Given the description of an element on the screen output the (x, y) to click on. 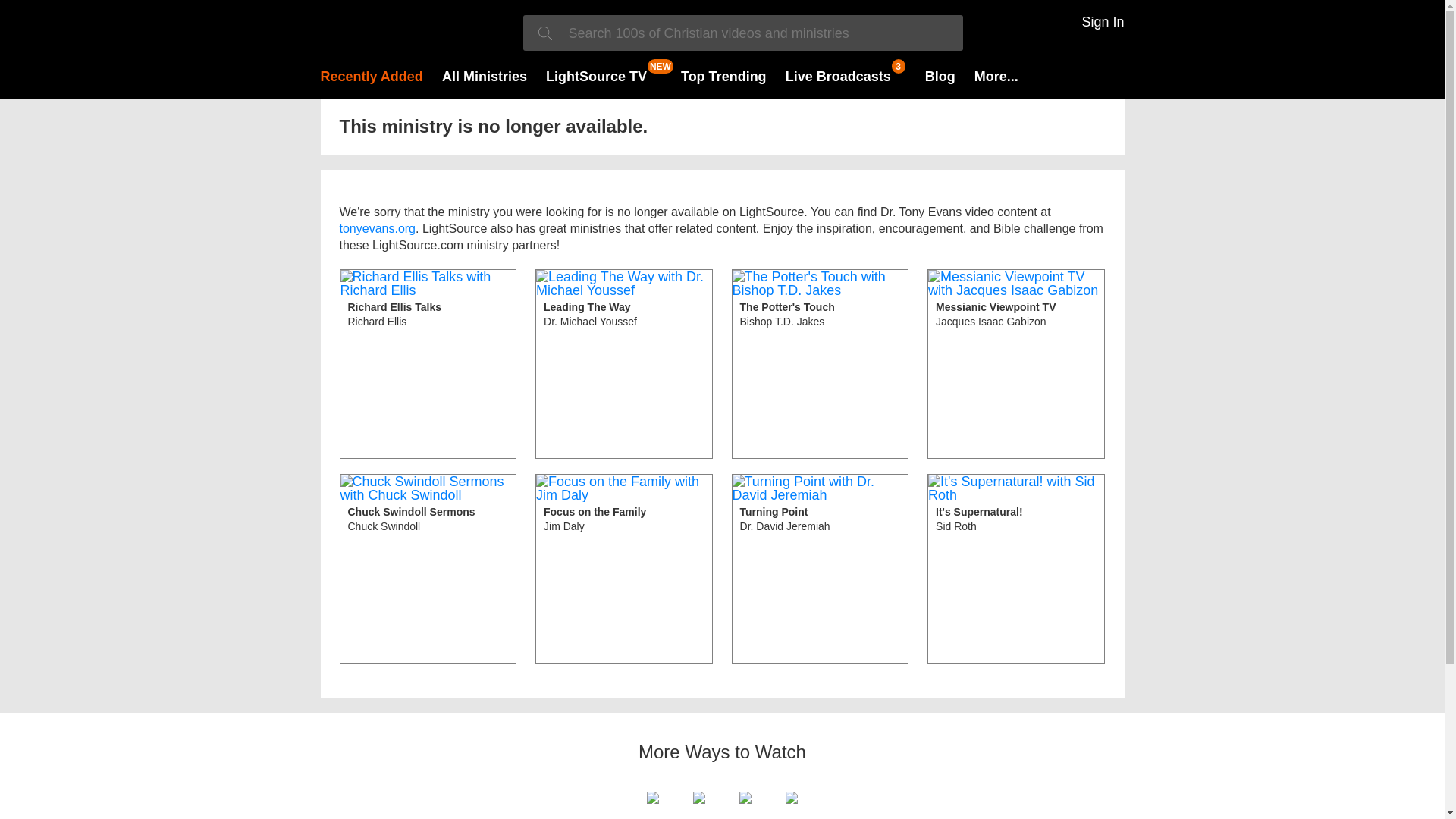
All Ministries (484, 76)
tonyevans.org (377, 228)
Blog (624, 363)
Live Broadcasts (427, 568)
